Given the description of an element on the screen output the (x, y) to click on. 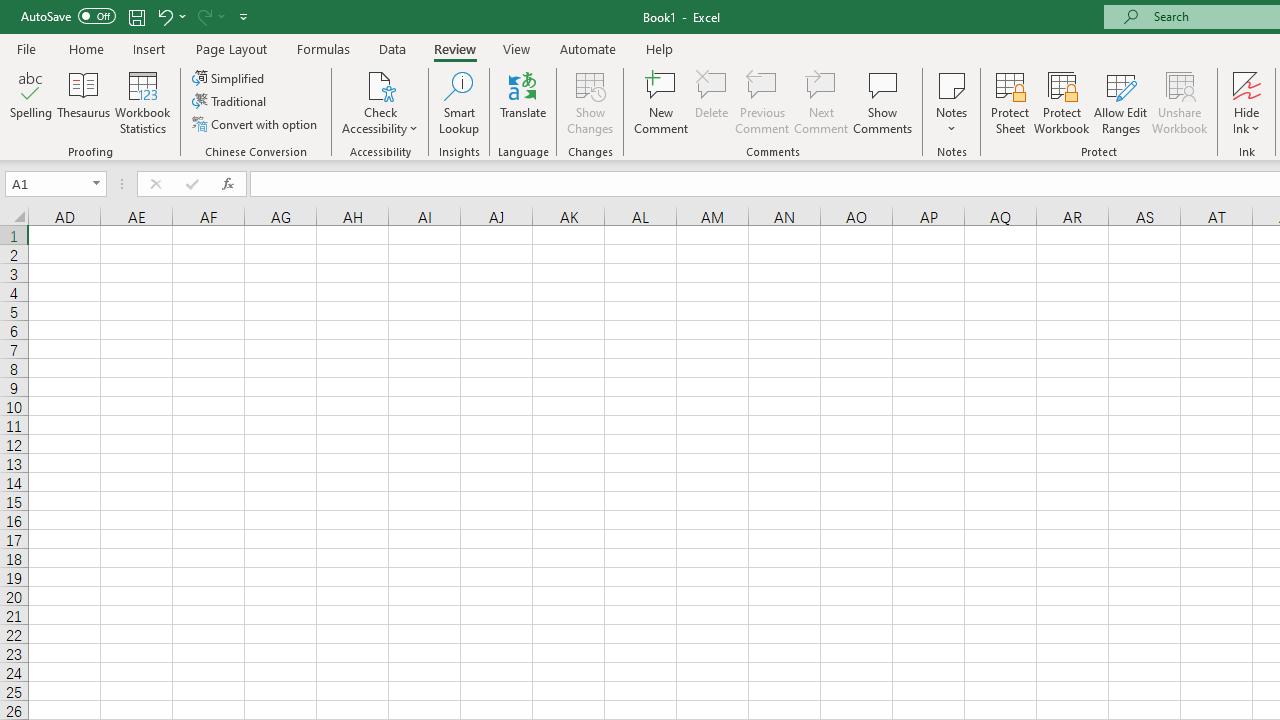
Previous Comment (762, 102)
Smart Lookup (459, 102)
Next Comment (821, 102)
Notes (951, 102)
Protect Sheet... (1010, 102)
Show Changes (589, 102)
Convert with option (256, 124)
Workbook Statistics (142, 102)
